Given the description of an element on the screen output the (x, y) to click on. 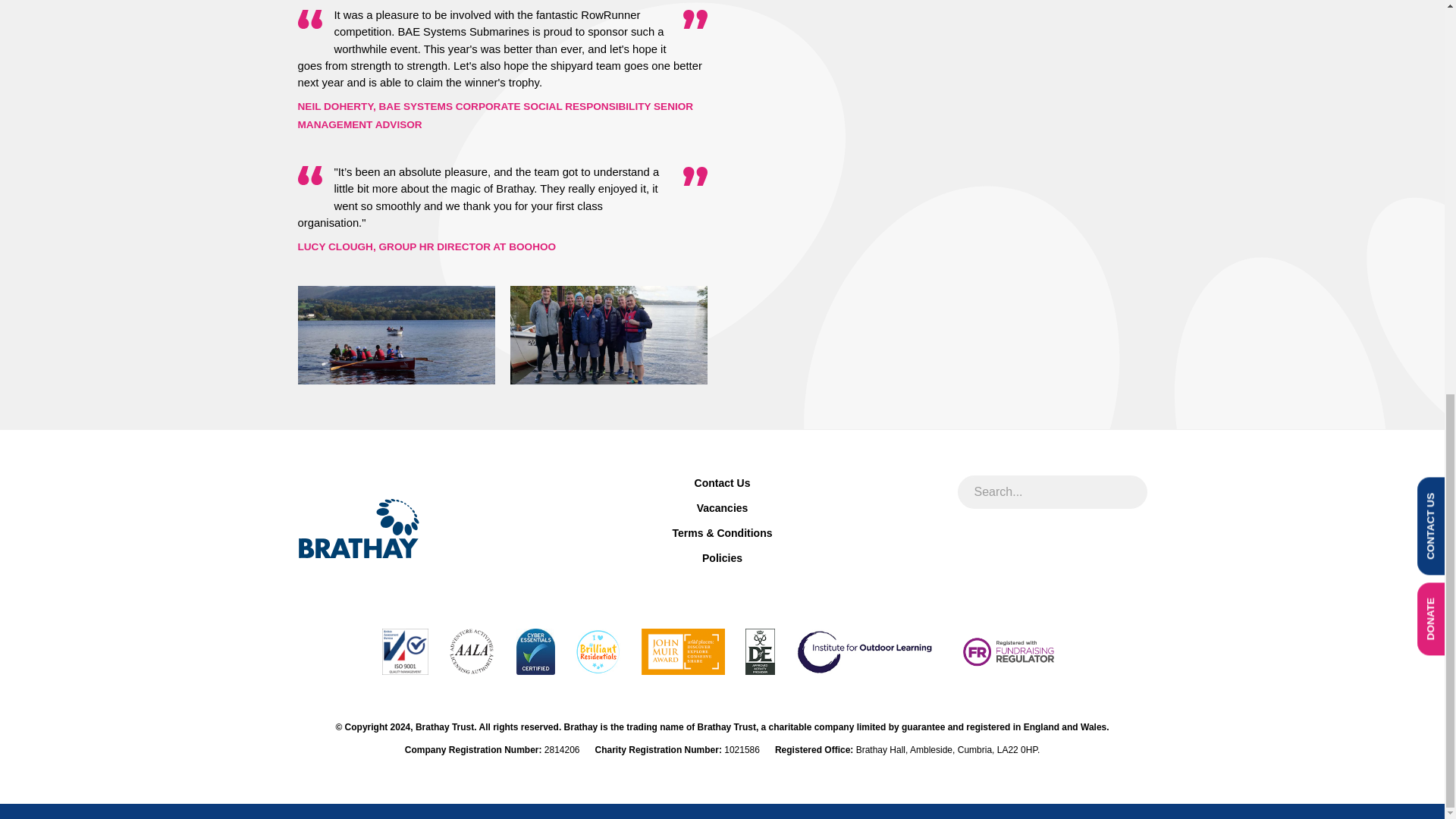
Contact Us (722, 483)
Policies (721, 558)
Vacancies (722, 508)
